Given the description of an element on the screen output the (x, y) to click on. 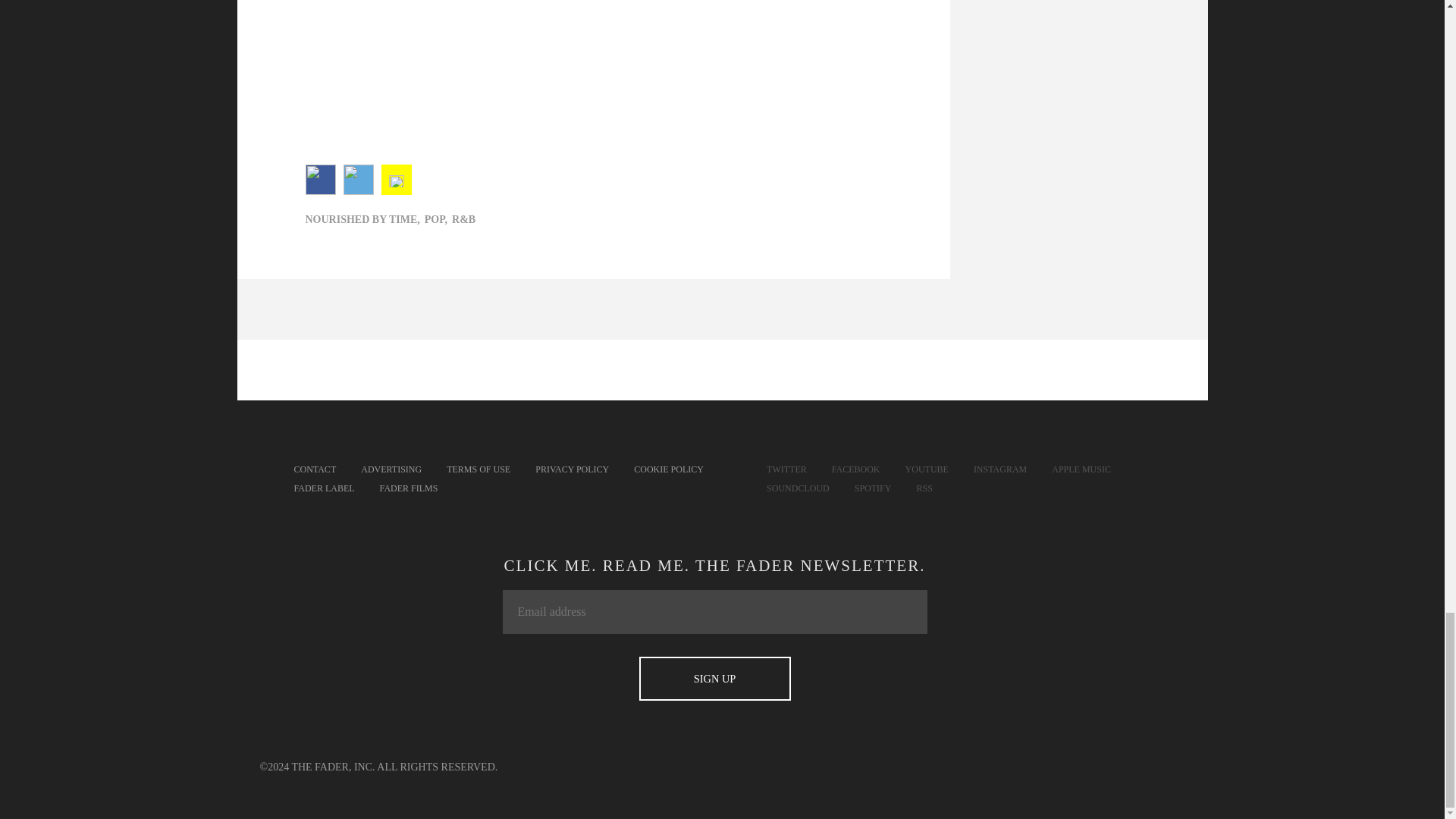
Sign Up (714, 678)
